Given the description of an element on the screen output the (x, y) to click on. 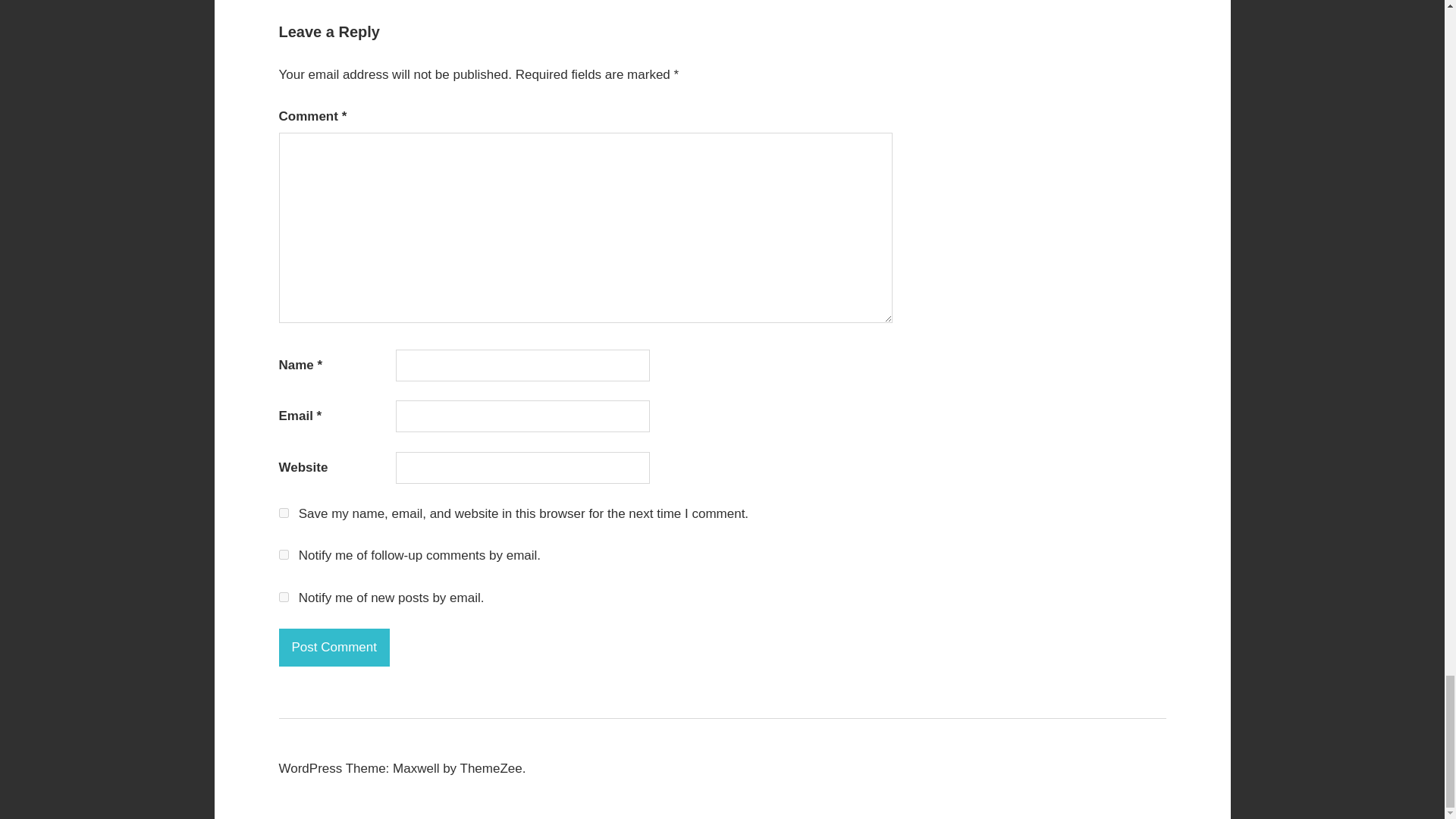
yes (283, 512)
Post Comment (334, 647)
Post Comment (334, 647)
subscribe (283, 554)
subscribe (283, 596)
